Given the description of an element on the screen output the (x, y) to click on. 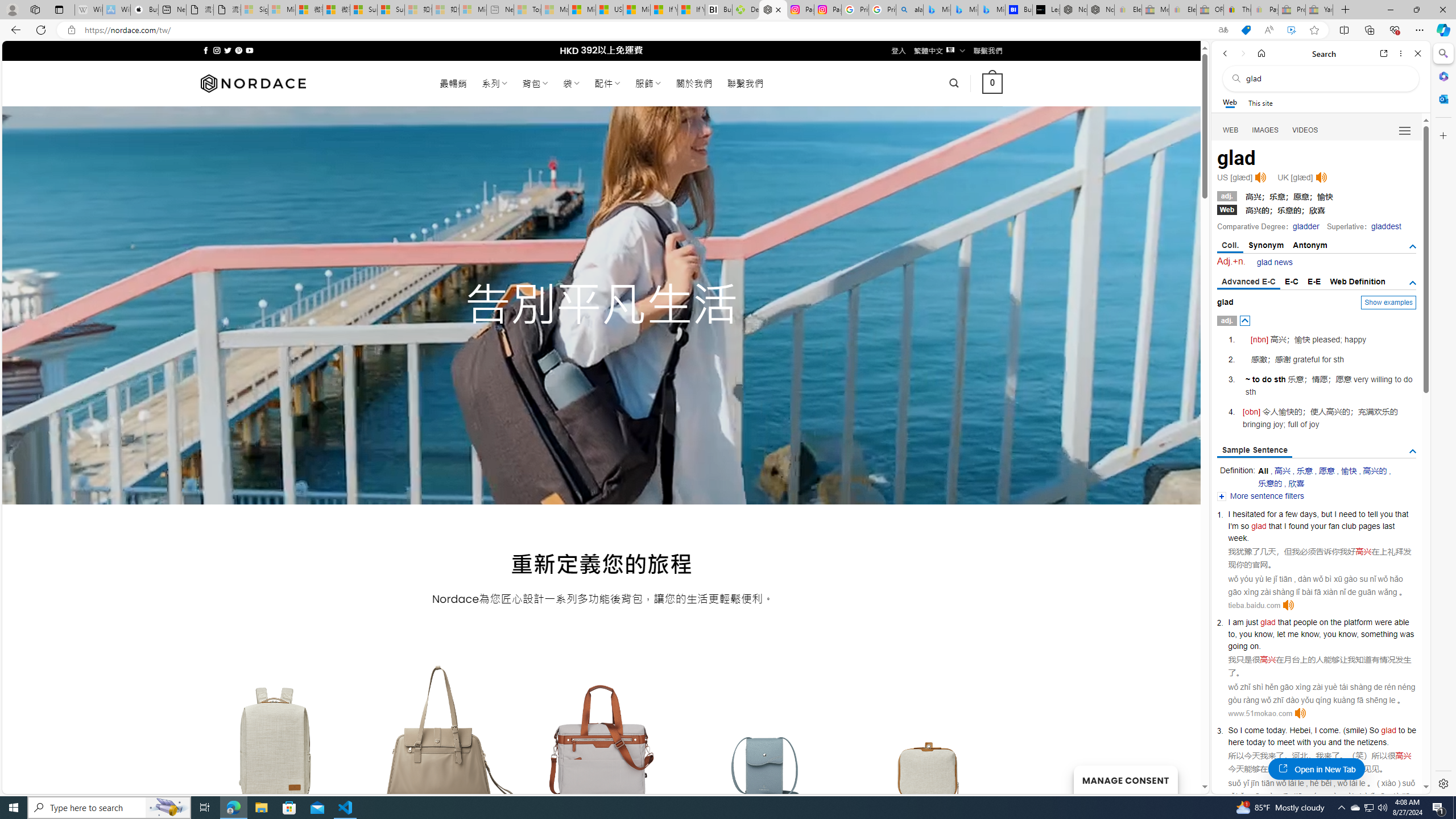
Minimize (1390, 9)
days (1308, 513)
Web scope (1230, 102)
know (1347, 633)
IMAGES (1265, 130)
Microsoft 365 (1442, 76)
Customize (1442, 135)
on (1323, 621)
So (1373, 729)
Threats and offensive language policy | eBay (1236, 9)
Settings (1442, 783)
